Given the description of an element on the screen output the (x, y) to click on. 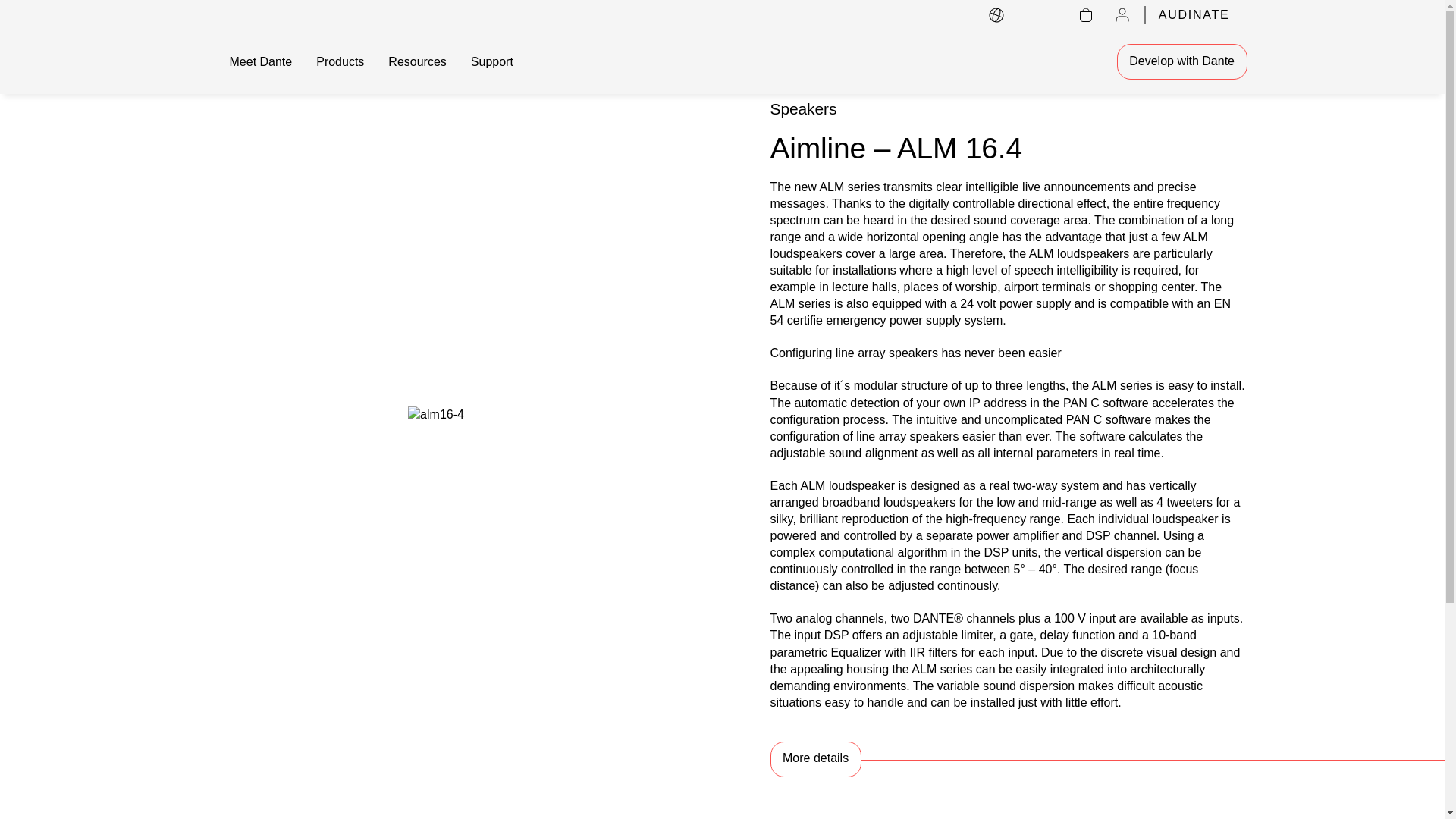
Cart (1085, 14)
My Account (1122, 14)
Meet Dante (737, 62)
